Given the description of an element on the screen output the (x, y) to click on. 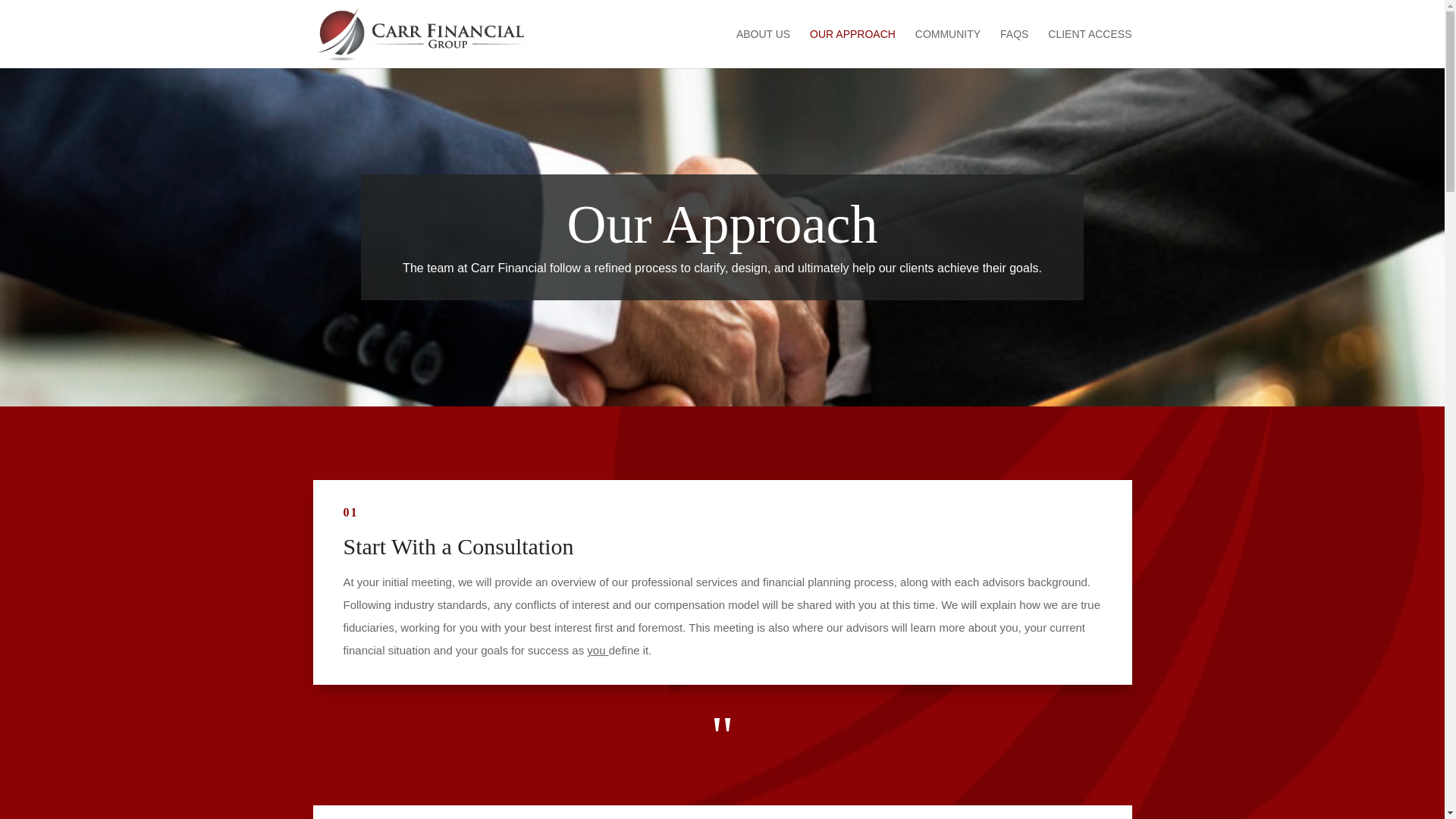
OUR APPROACH (852, 47)
" (721, 751)
ABOUT US (763, 47)
COMMUNITY (947, 47)
CLIENT ACCESS (1089, 47)
